Given the description of an element on the screen output the (x, y) to click on. 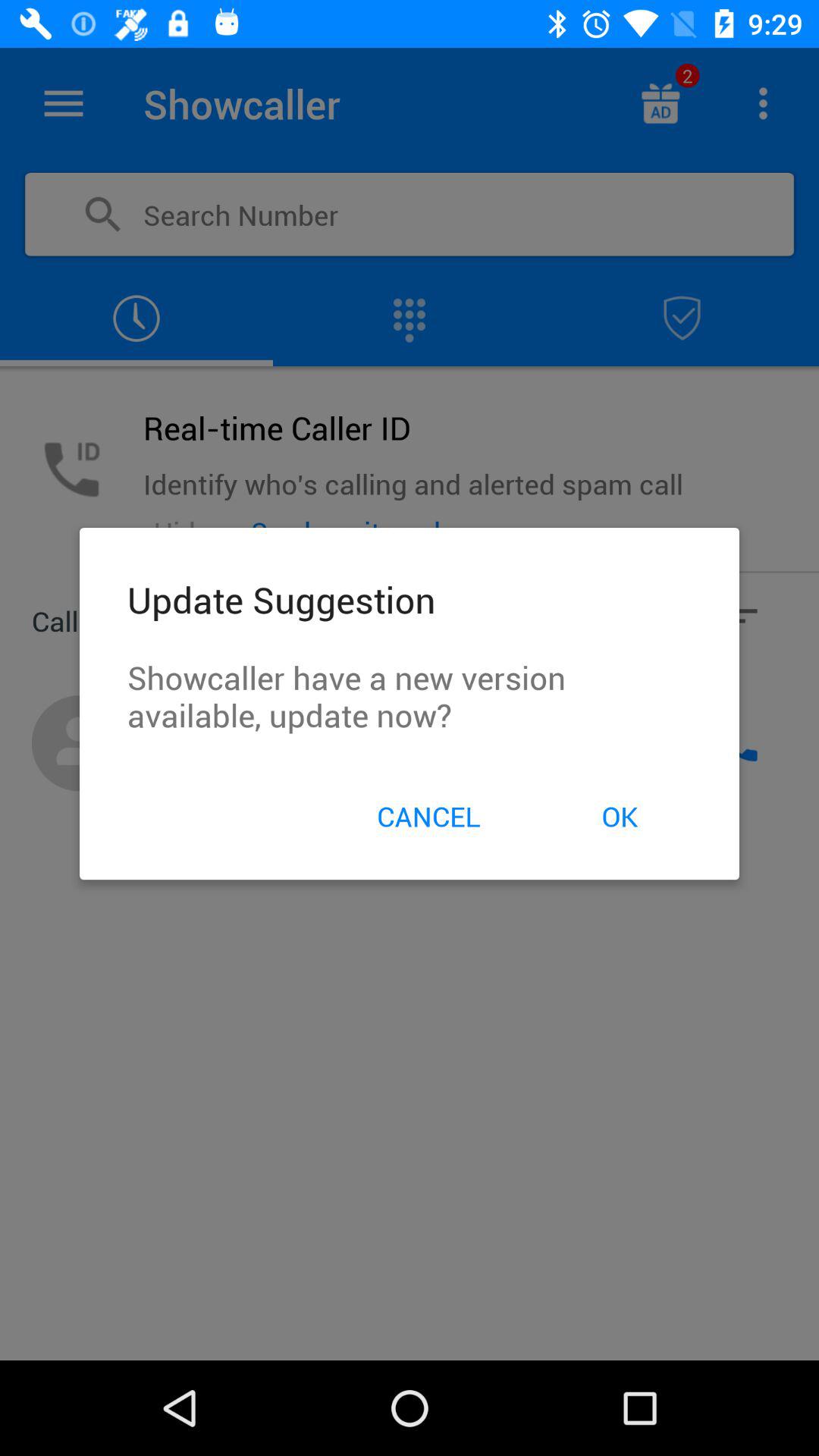
press item below the showcaller have a icon (428, 815)
